Given the description of an element on the screen output the (x, y) to click on. 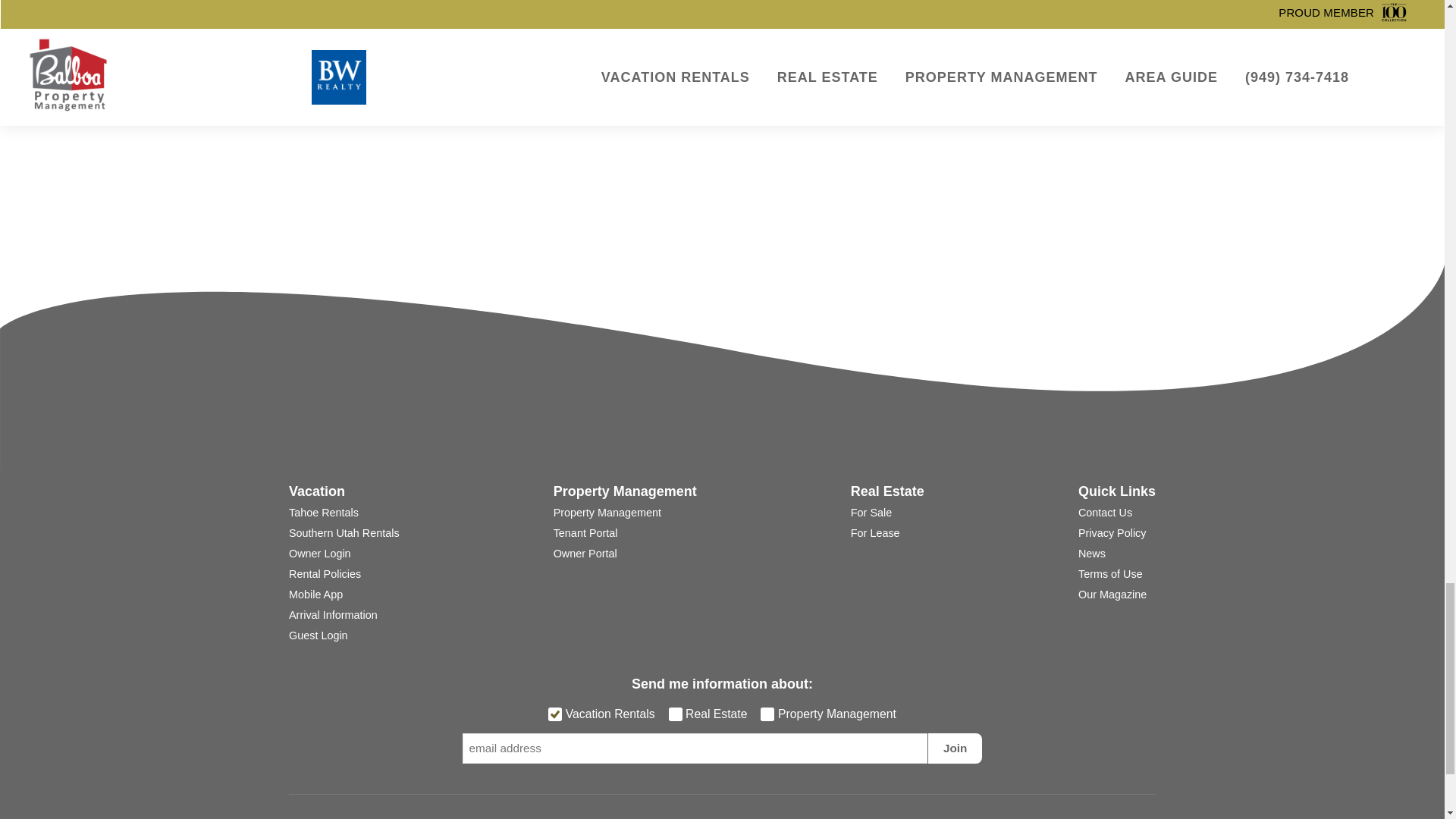
on (767, 714)
on (555, 714)
on (675, 714)
